Given the description of an element on the screen output the (x, y) to click on. 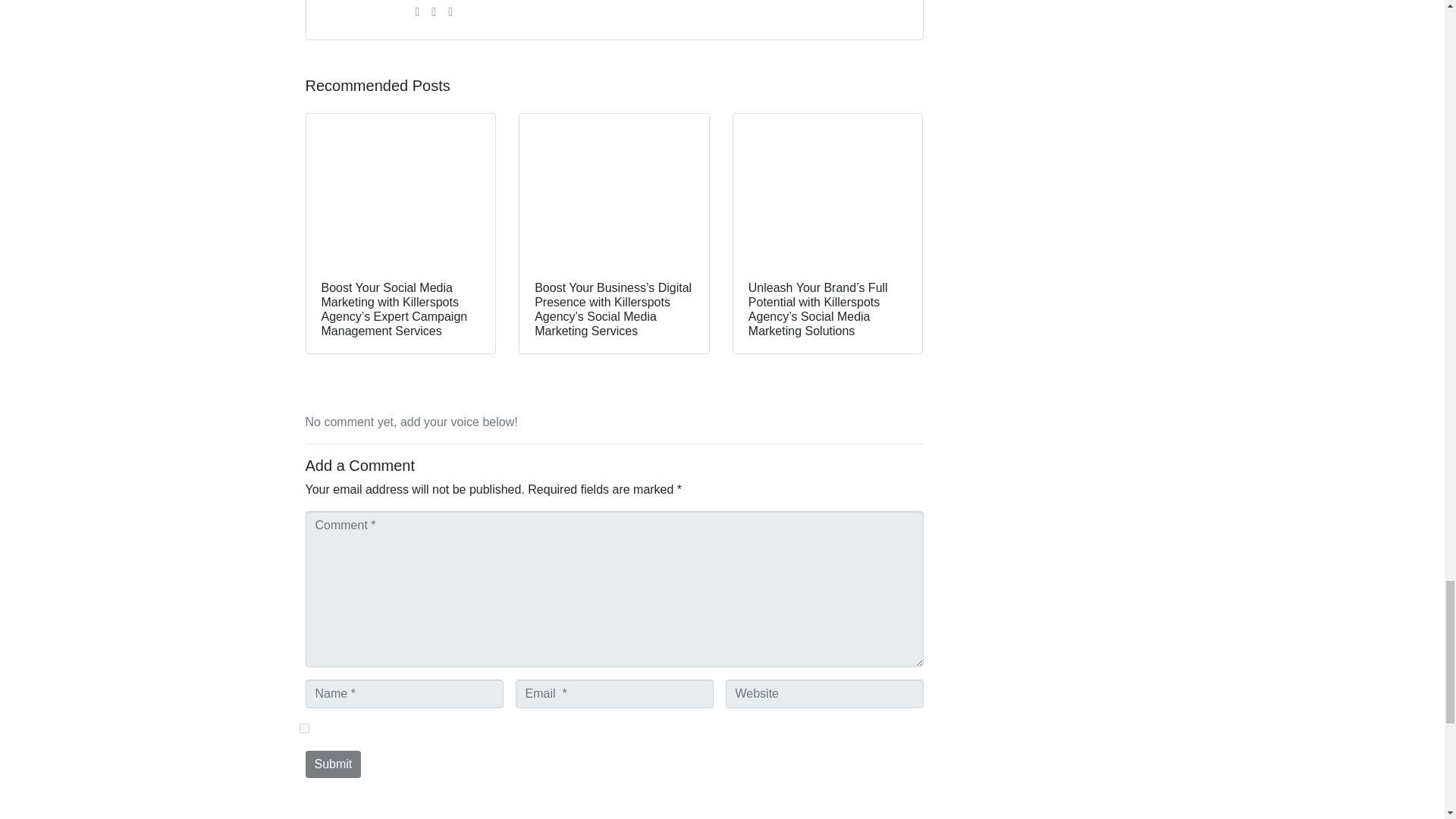
yes (303, 728)
